Given the description of an element on the screen output the (x, y) to click on. 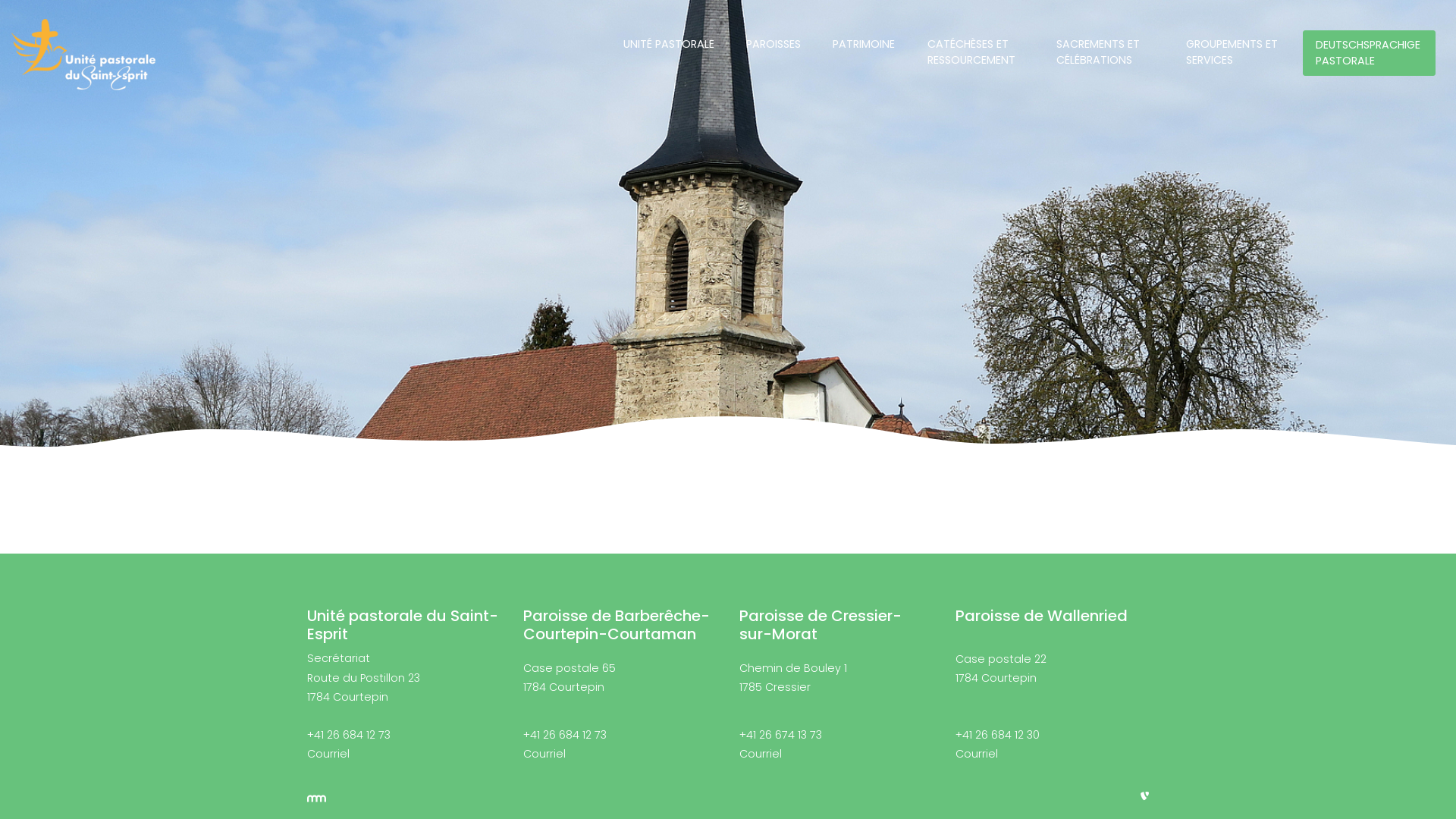
GROUPEMENTS ET SERVICES Element type: text (1234, 52)
+41 26 684 12 30 Element type: text (997, 734)
hemmer.ch Element type: hover (316, 797)
PAROISSES Element type: text (773, 44)
Courriel Element type: text (760, 753)
+41 26 674 13 73 Element type: text (780, 734)
+41 26 684 12 73 Element type: text (348, 734)
Courriel Element type: text (976, 753)
+41 26 684 12 73 Element type: text (564, 734)
PATRIMOINE Element type: text (863, 44)
Courriel Element type: text (544, 753)
Courriel Element type: text (328, 753)
DEUTSCHSPRACHIGE PASTORALE Element type: text (1368, 52)
Administration TYPO3 Element type: hover (1144, 795)
